Given the description of an element on the screen output the (x, y) to click on. 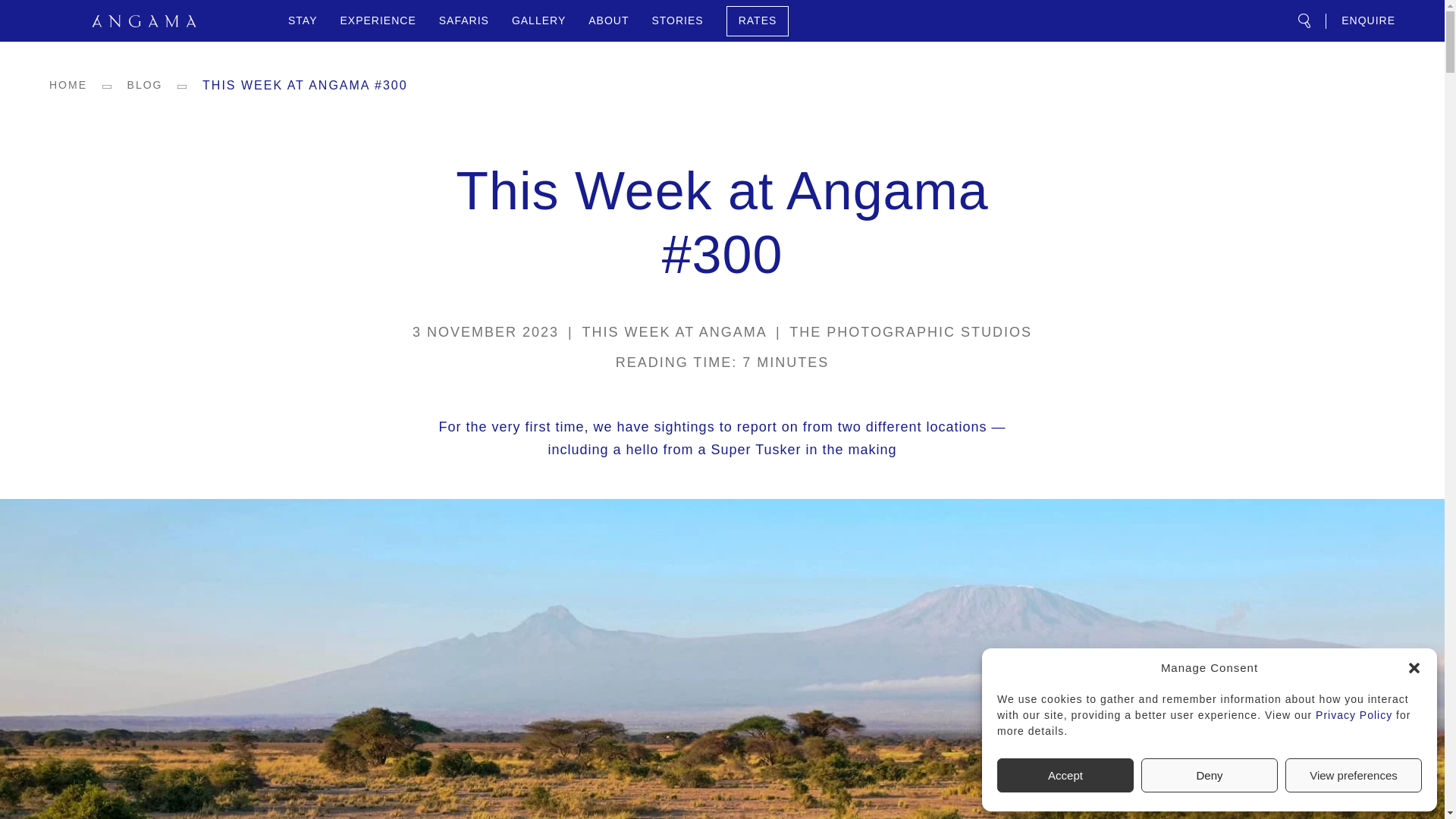
STAY (302, 20)
Privacy Policy (1353, 715)
View preferences (1353, 775)
Accept (1065, 775)
Deny (1209, 775)
